Given the description of an element on the screen output the (x, y) to click on. 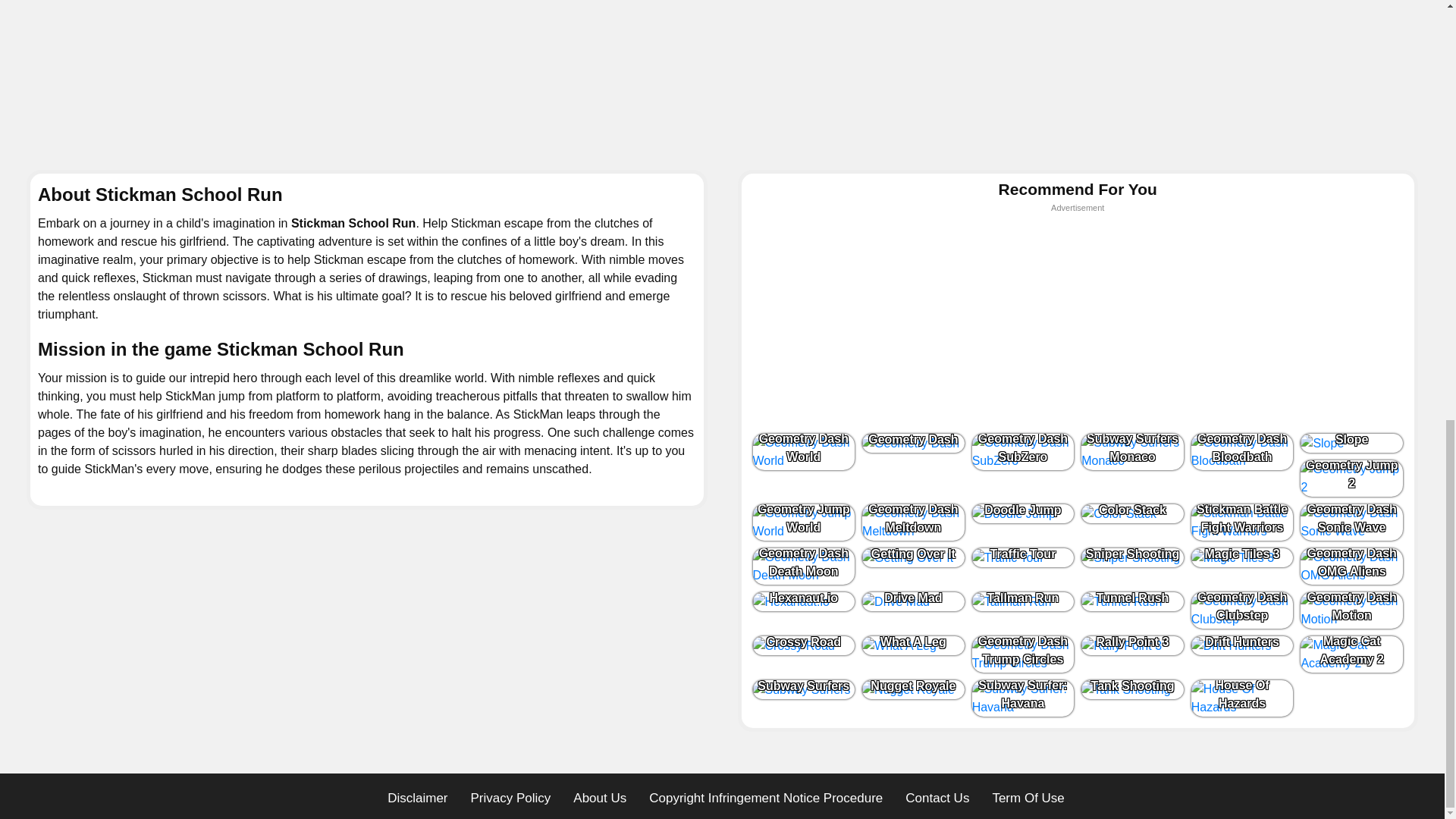
Geometry Dash Bloodbath (1242, 452)
Subway Surfers Monaco (1132, 452)
Geometry Dash SubZero (1023, 452)
Geometry Dash (913, 443)
Geometry Dash World (804, 452)
Slope (1351, 443)
